Given the description of an element on the screen output the (x, y) to click on. 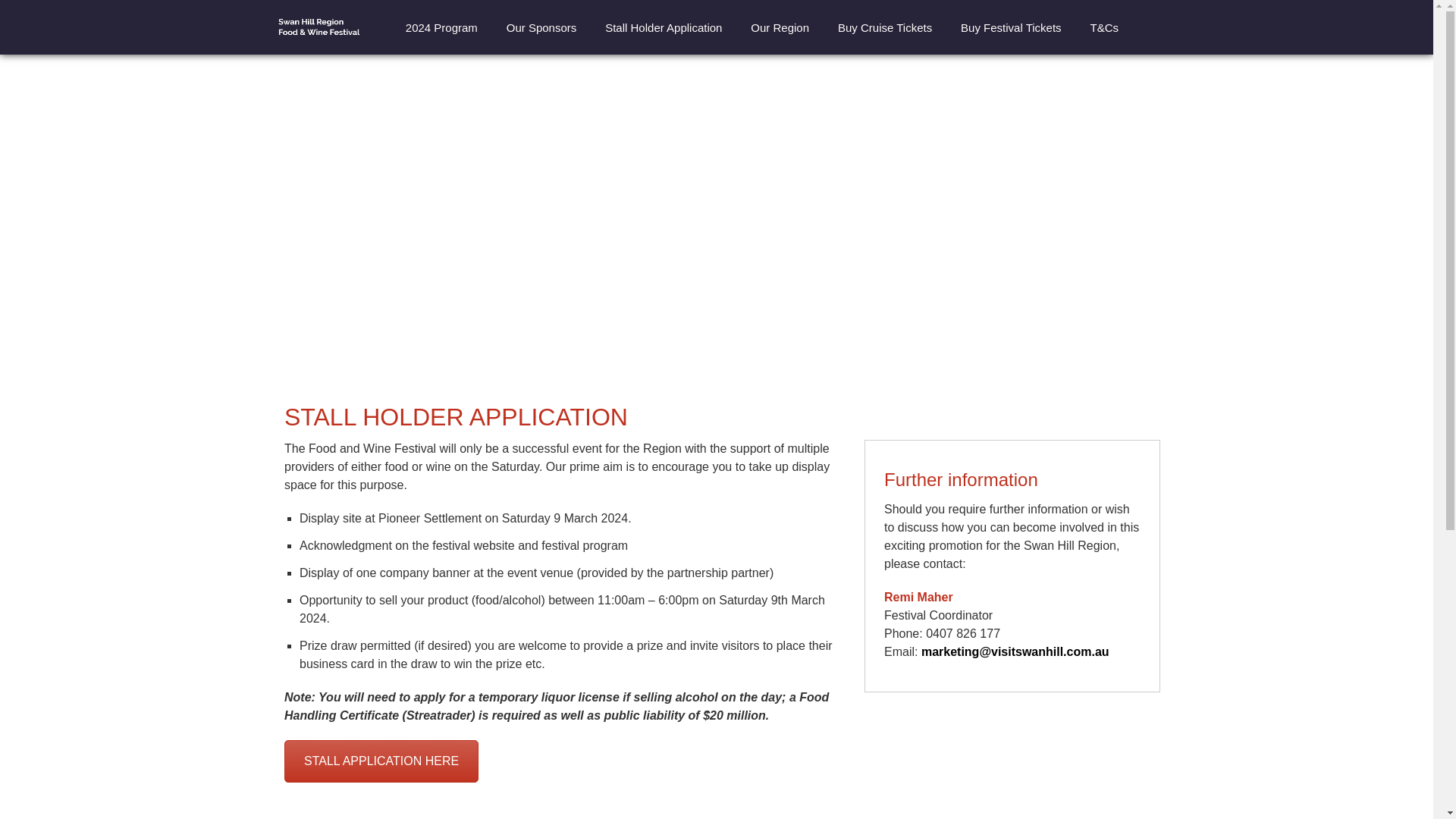
Our Region (780, 27)
Stall Holder Application (663, 27)
2024 Program (441, 27)
Buy Festival Tickets (1010, 27)
Our Sponsors (541, 27)
Buy Cruise Tickets (884, 27)
STALL APPLICATION HERE (381, 761)
